Given the description of an element on the screen output the (x, y) to click on. 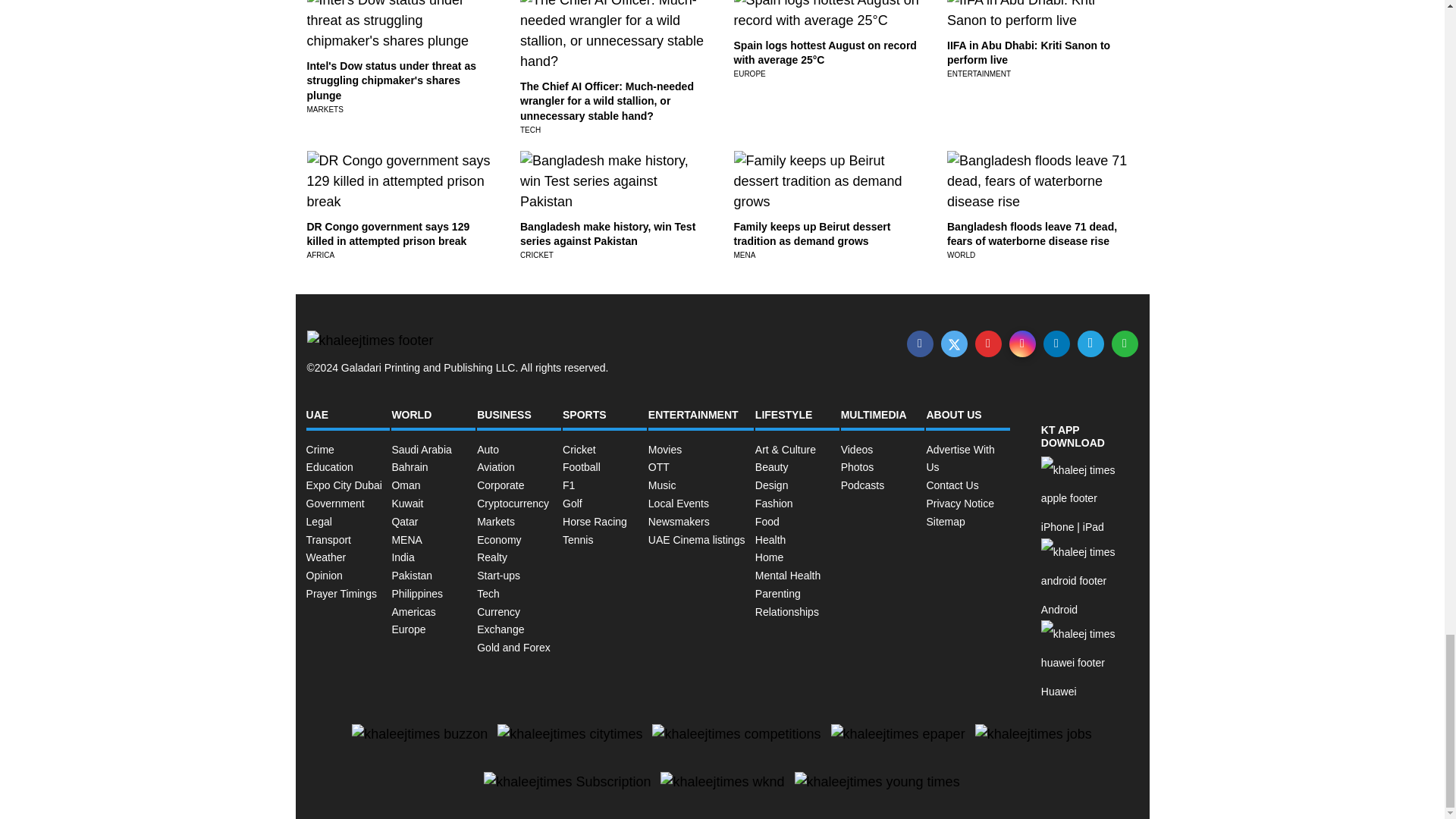
Family keeps up Beirut dessert tradition as demand grows (812, 234)
Bangladesh make history, win Test series against Pakistan (607, 234)
IIFA in Abu Dhabi: Kriti Sanon to perform live (1028, 52)
